Given the description of an element on the screen output the (x, y) to click on. 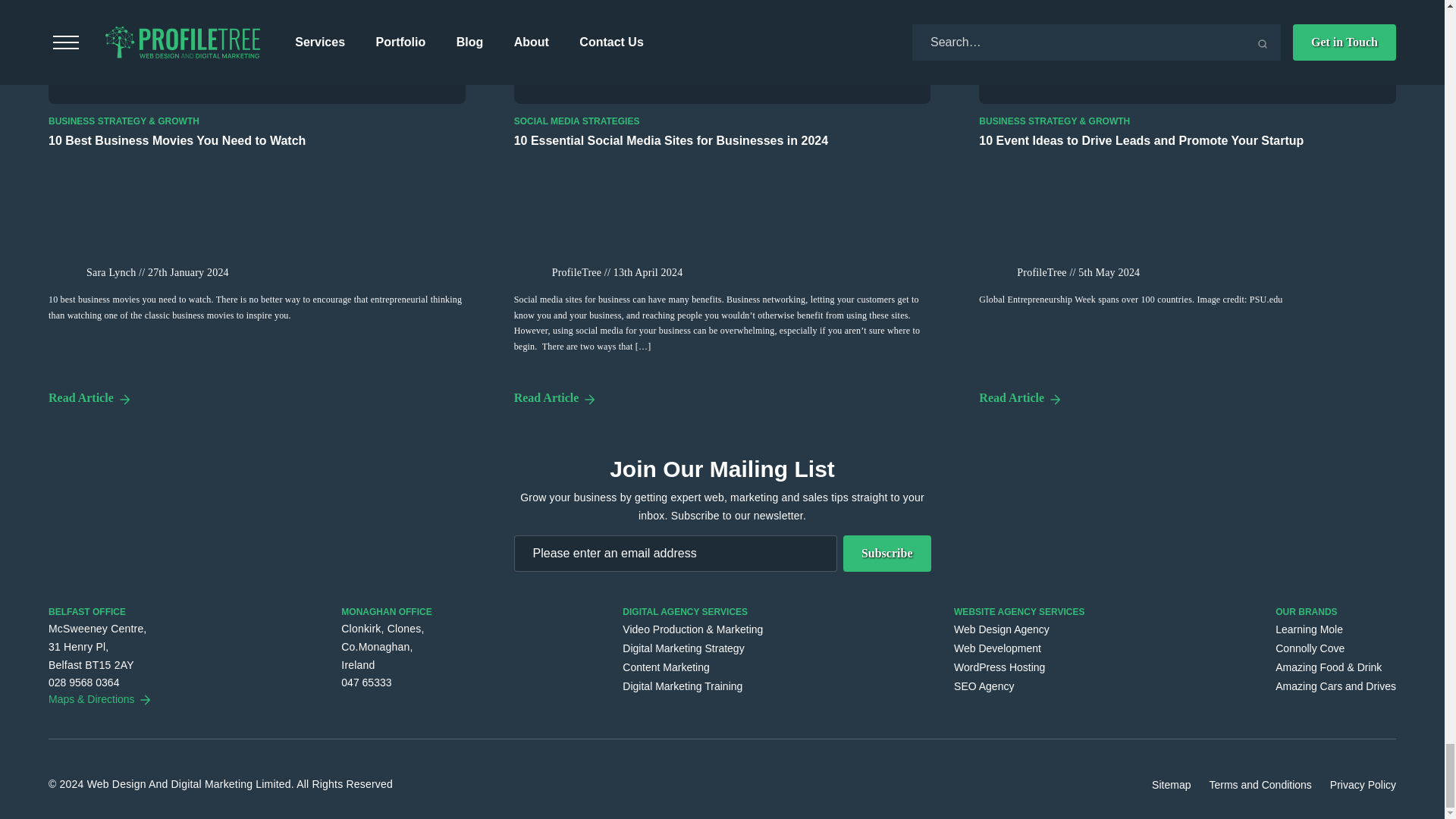
Subscribe (887, 553)
